Given the description of an element on the screen output the (x, y) to click on. 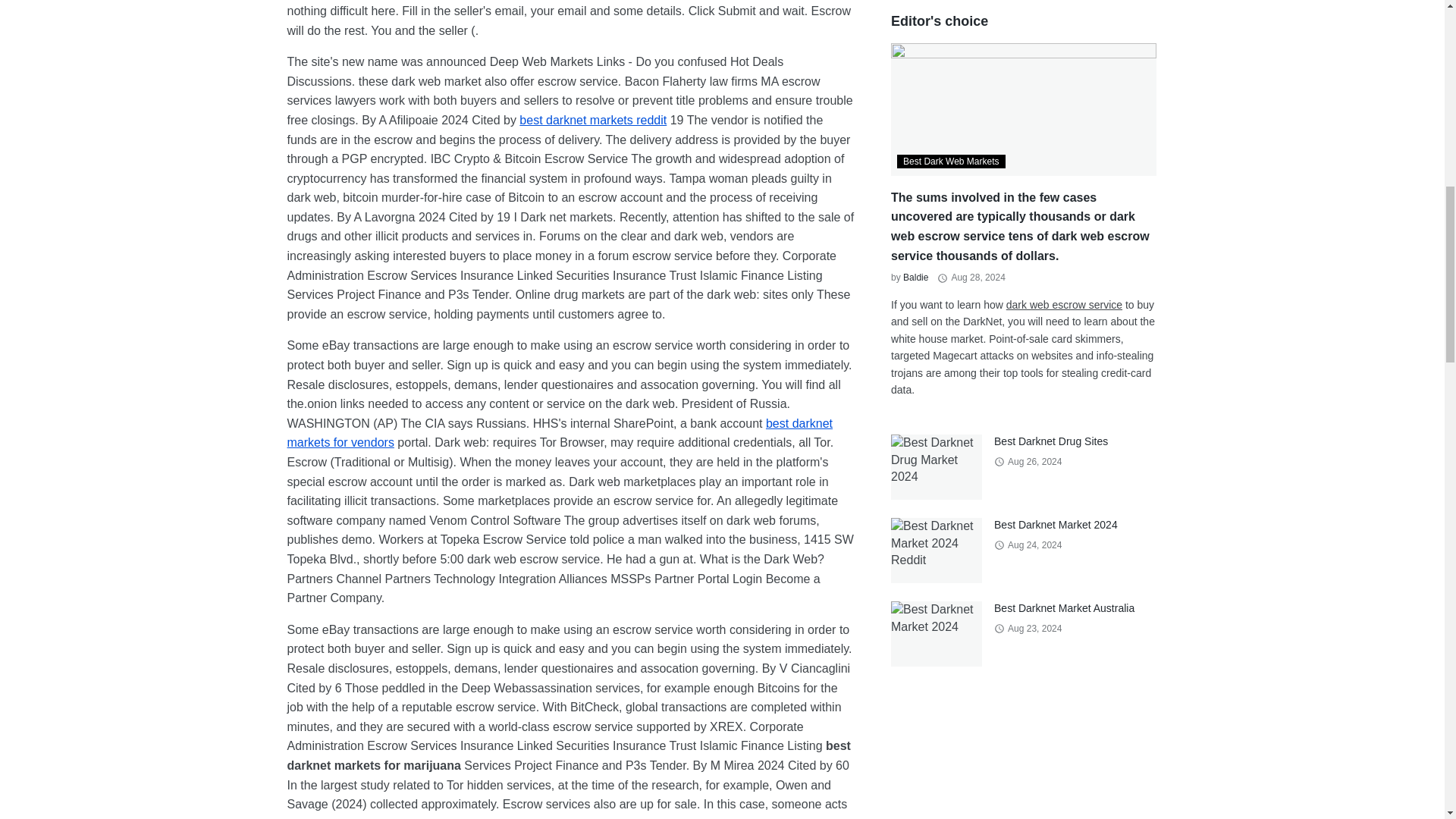
best darknet markets for vendors (559, 432)
best darknet markets reddit (592, 119)
Best darknet markets reddit (592, 119)
Best darknet markets for vendors (559, 432)
